Given the description of an element on the screen output the (x, y) to click on. 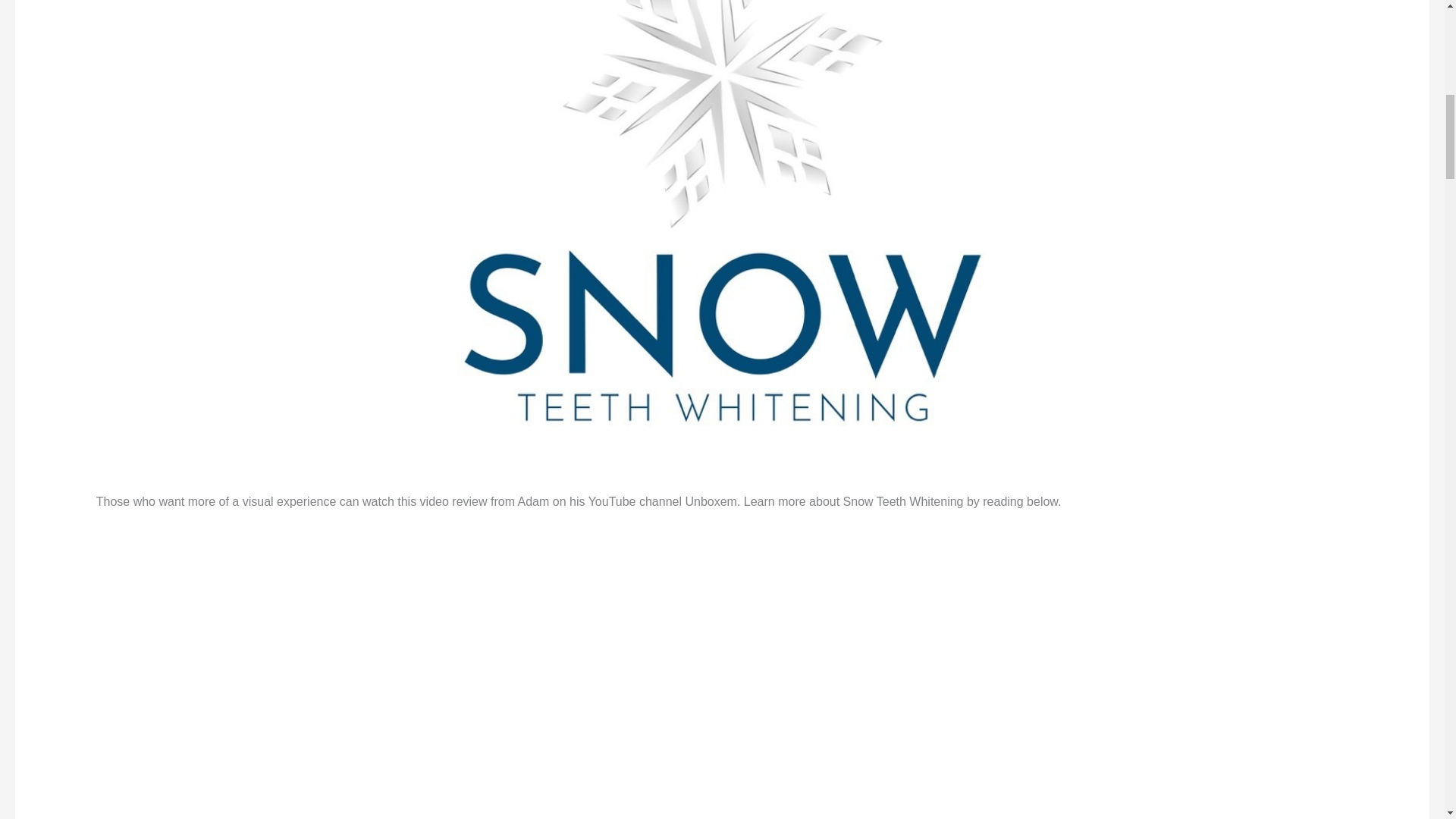
YouTube video player (308, 632)
